Given the description of an element on the screen output the (x, y) to click on. 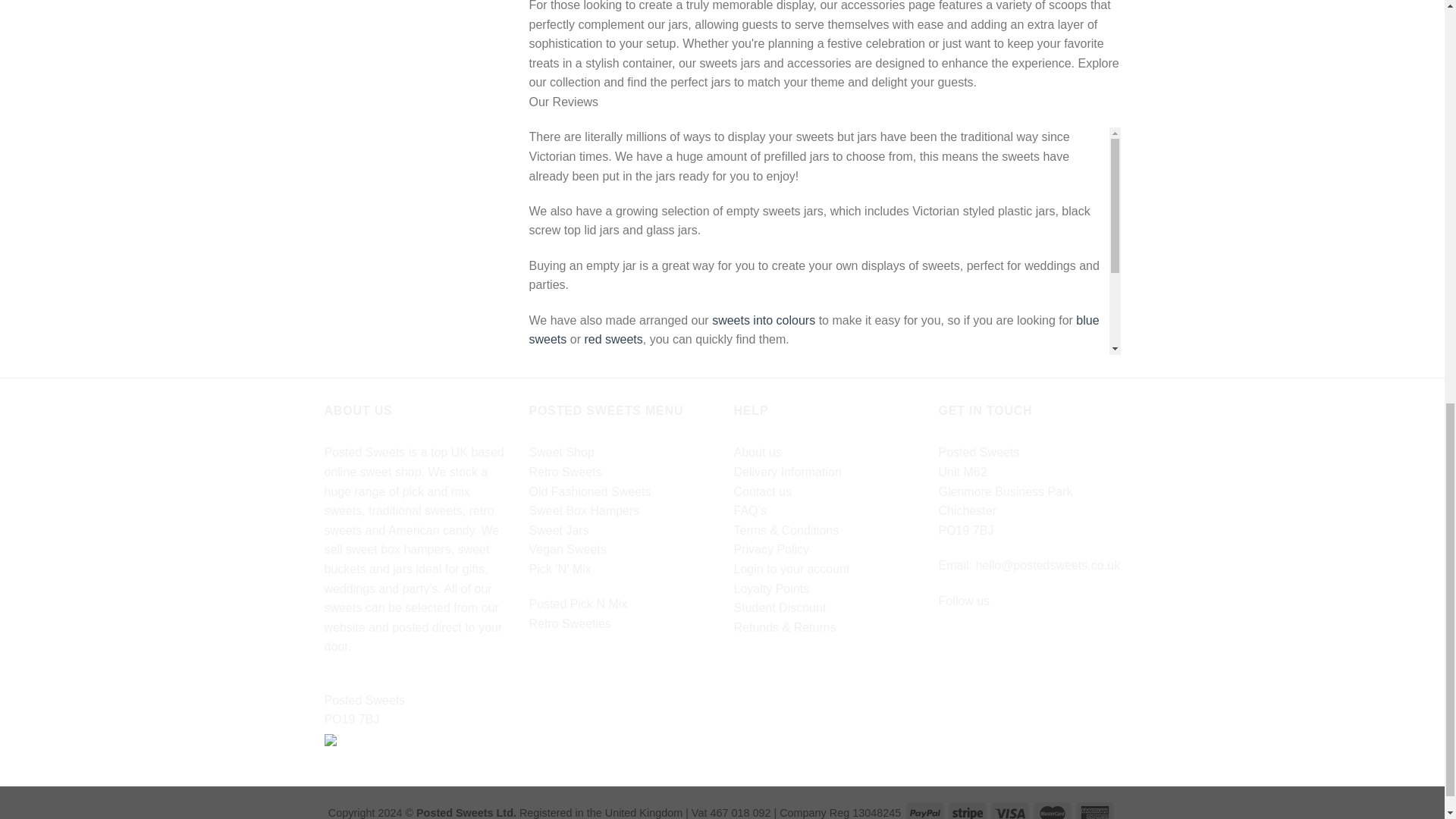
Follow on Facebook (951, 638)
Follow on Instagram (978, 638)
Posted Sweets (415, 700)
